Given the description of an element on the screen output the (x, y) to click on. 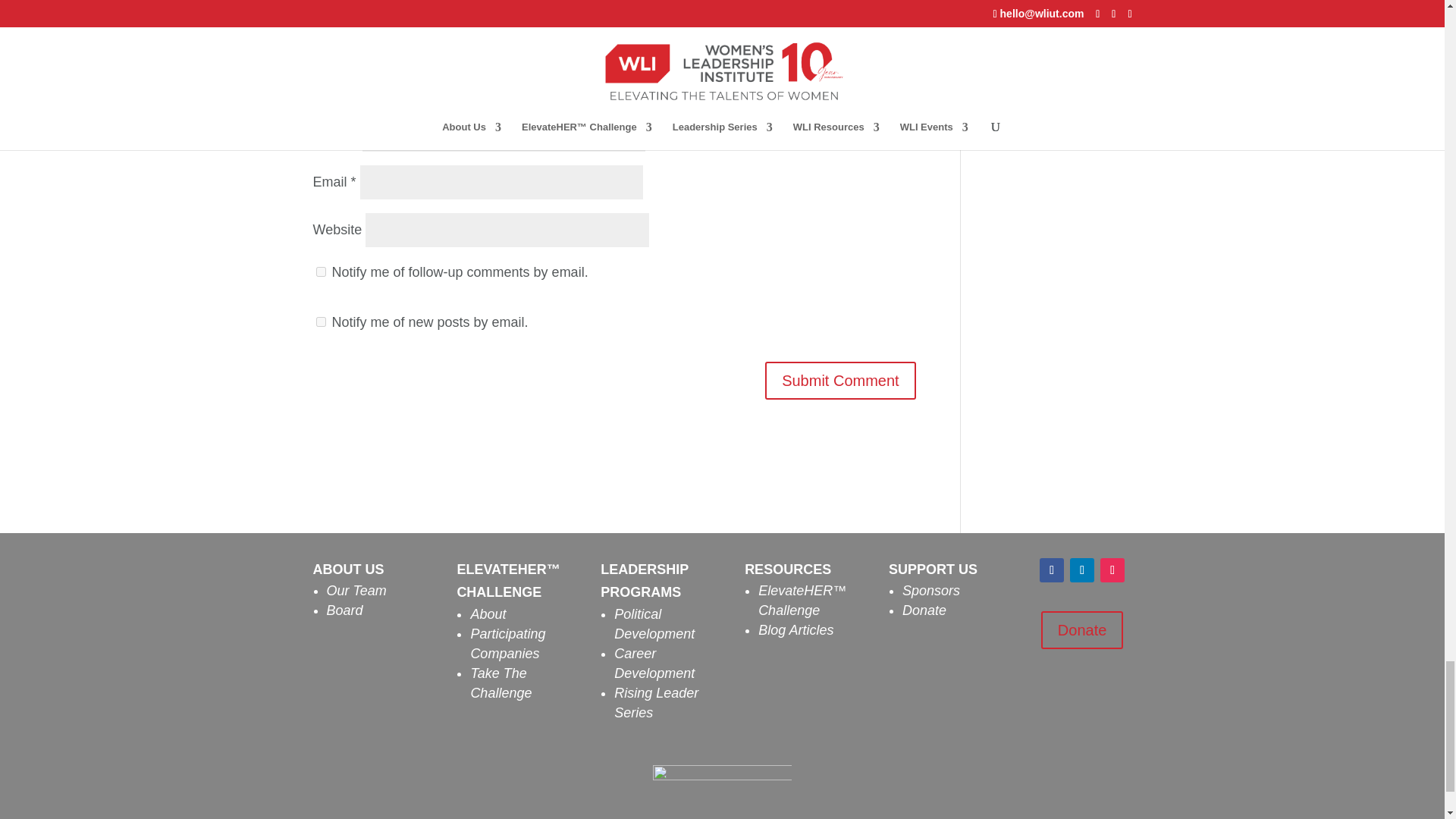
Follow on Instagram (1112, 569)
Follow on LinkedIn (1082, 569)
subscribe (319, 271)
Submit Comment (840, 380)
subscribe (319, 321)
Follow on Facebook (1051, 569)
